Given the description of an element on the screen output the (x, y) to click on. 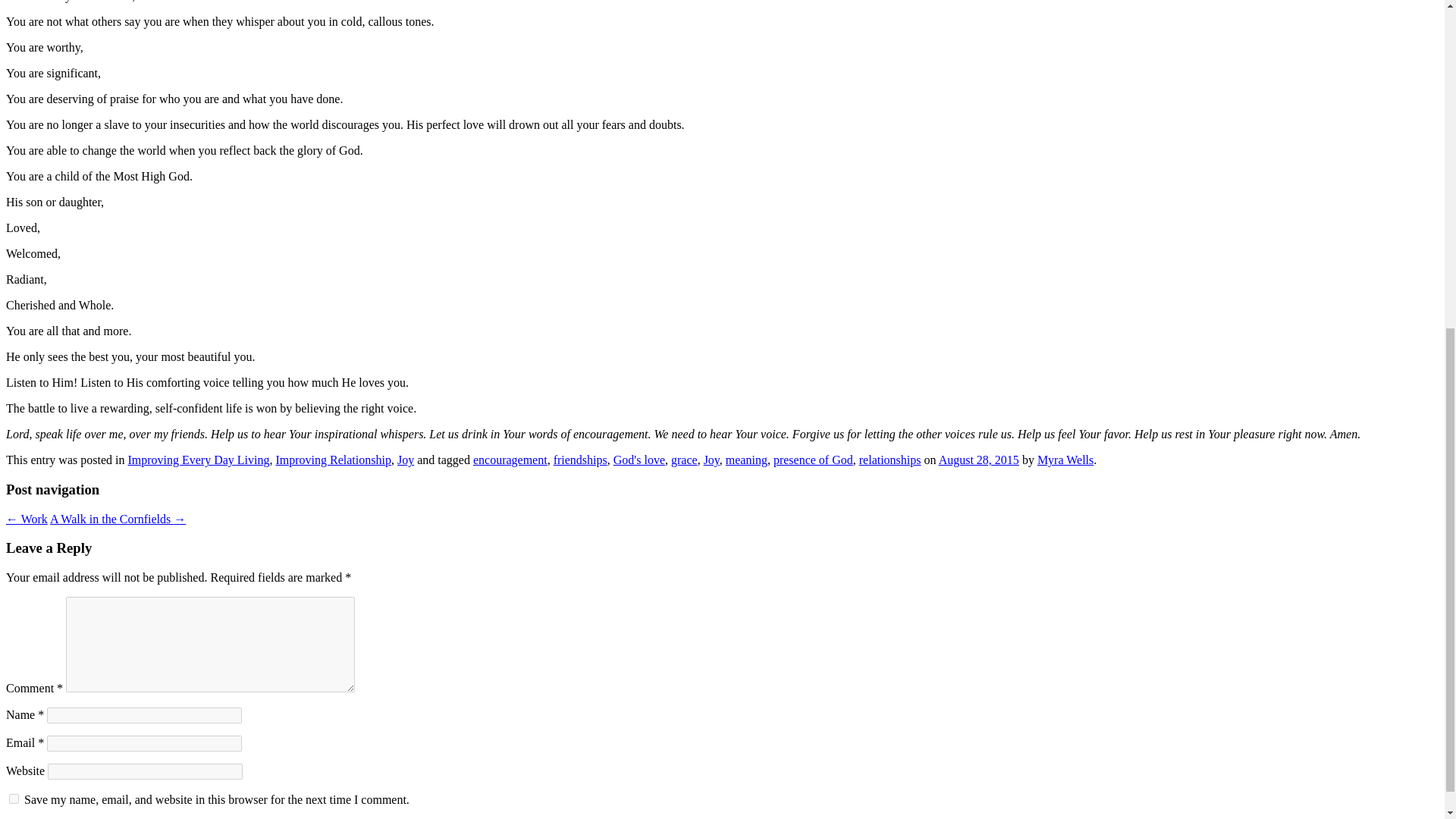
12:38 pm (979, 459)
yes (13, 798)
View all posts by Myra Wells (1064, 459)
God's love (638, 459)
encouragement (510, 459)
Joy (405, 459)
Improving Every Day Living (198, 459)
meaning (746, 459)
Myra Wells (1064, 459)
Improving Relationship (333, 459)
